Given the description of an element on the screen output the (x, y) to click on. 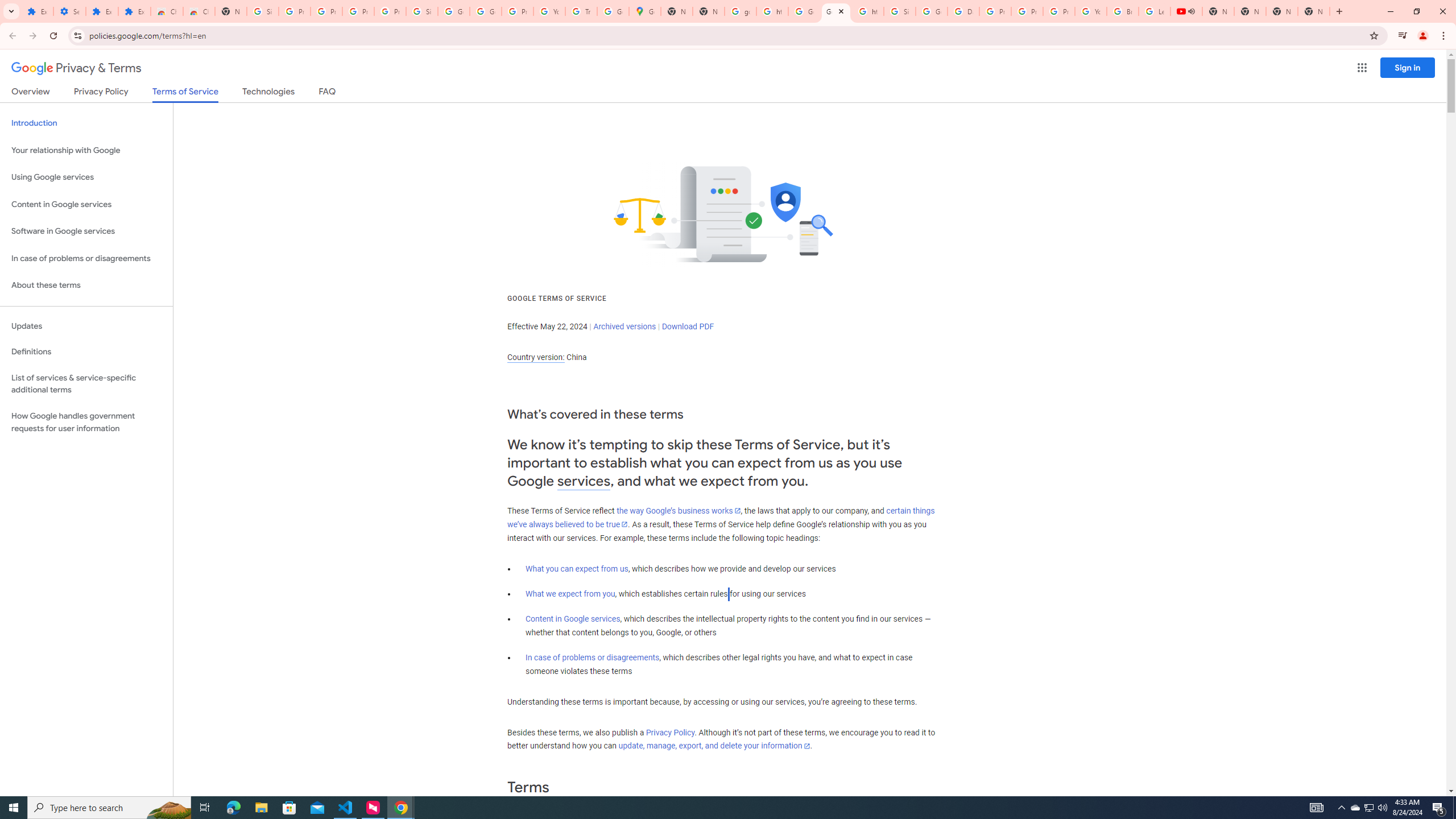
update, manage, export, and delete your information (714, 746)
YouTube (1091, 11)
How Google handles government requests for user information (86, 422)
New Tab (1313, 11)
Control your music, videos, and more (1402, 35)
Browse Chrome as a guest - Computer - Google Chrome Help (1123, 11)
What you can expect from us (576, 568)
Sign in - Google Accounts (262, 11)
Introduction (86, 122)
Google Maps (644, 11)
Technologies (268, 93)
